Given the description of an element on the screen output the (x, y) to click on. 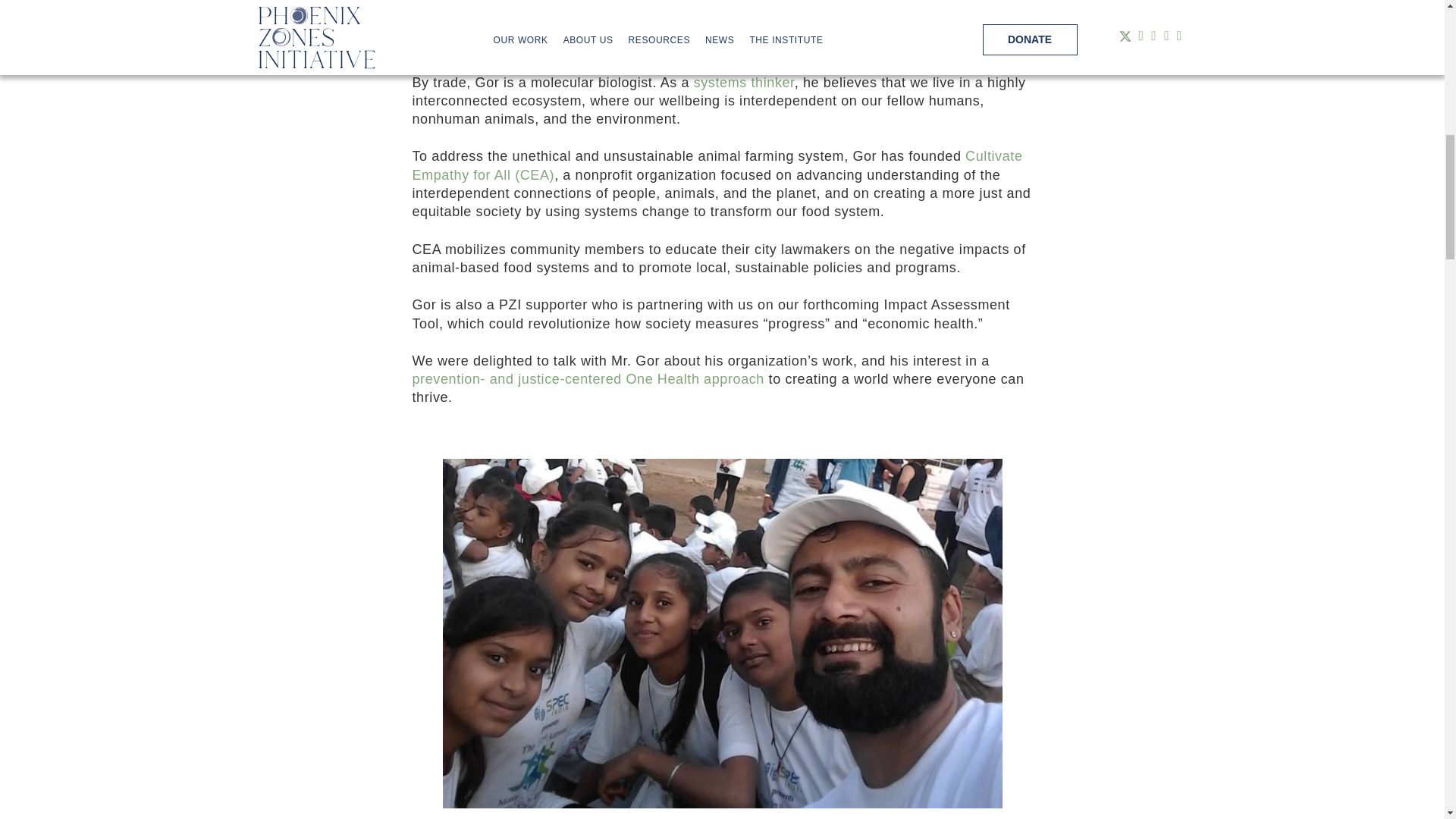
prevention- and justice-centered One Health approach (588, 378)
systems thinker (744, 82)
